Given the description of an element on the screen output the (x, y) to click on. 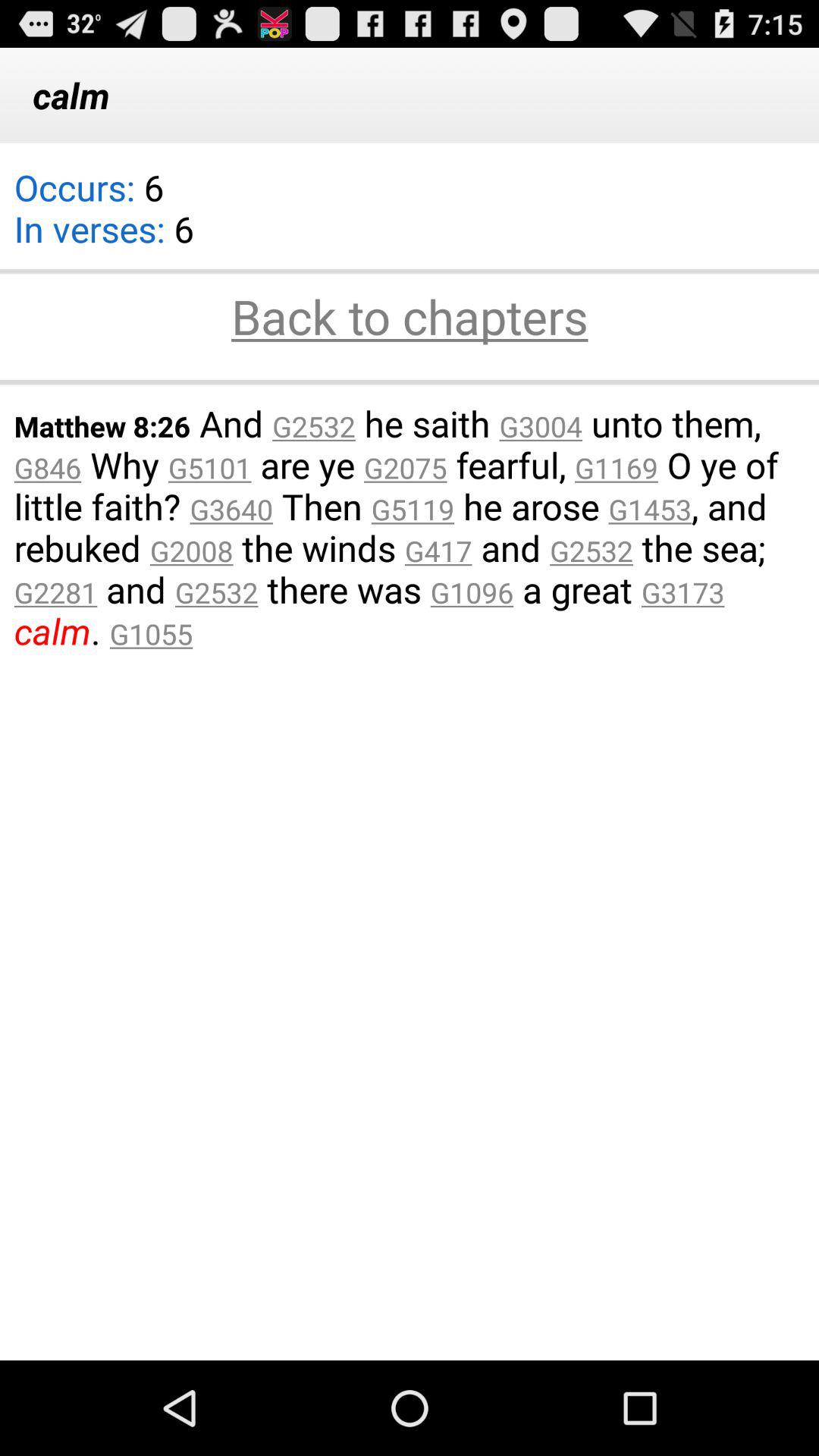
flip to back to chapters (409, 319)
